Given the description of an element on the screen output the (x, y) to click on. 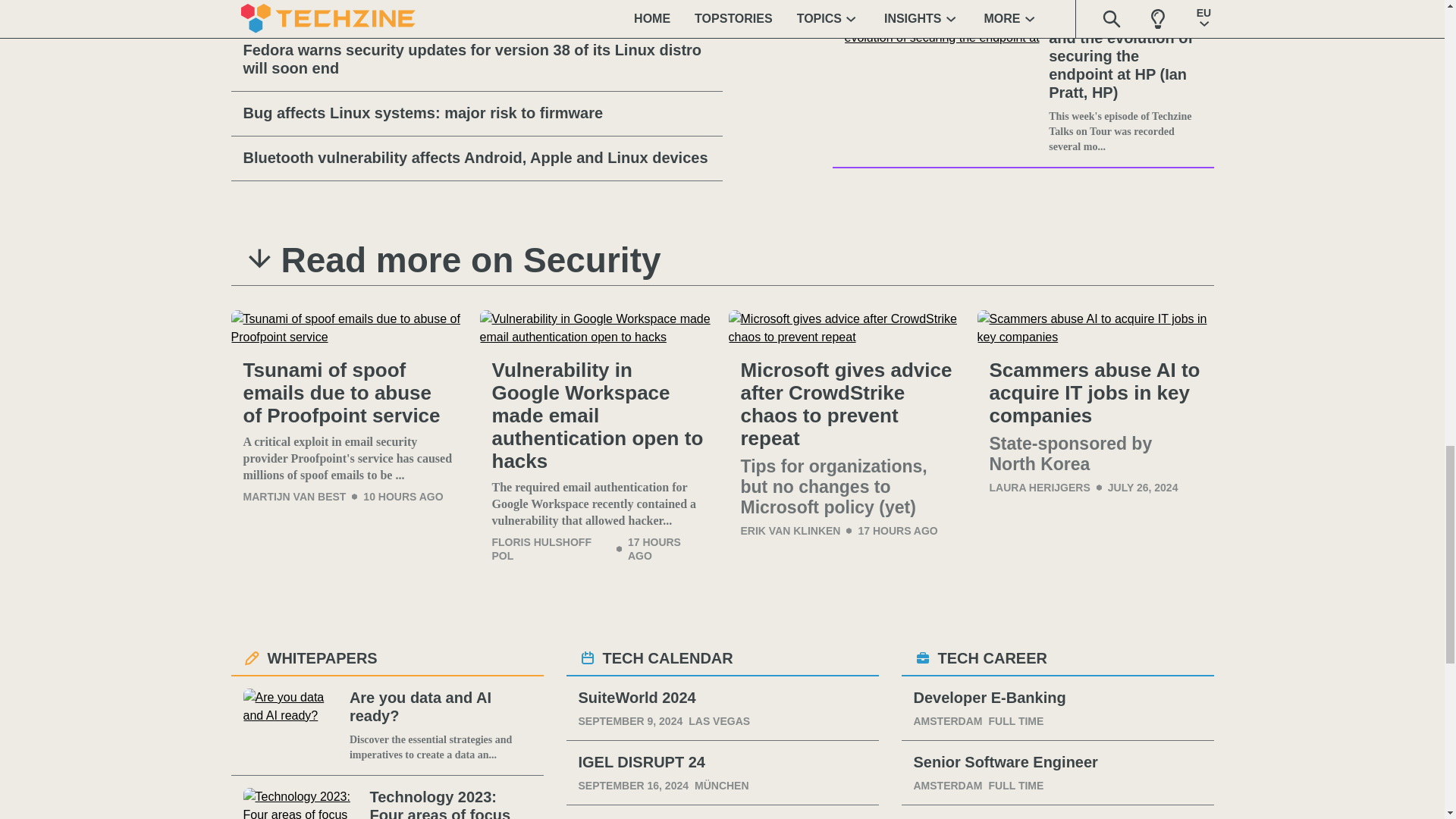
Bug affects Linux systems: major risk to firmware (476, 113)
Tsunami of spoof emails due to abuse of Proofpoint service (348, 392)
Tsunami of spoof emails due to abuse of Proofpoint service (348, 328)
